Given the description of an element on the screen output the (x, y) to click on. 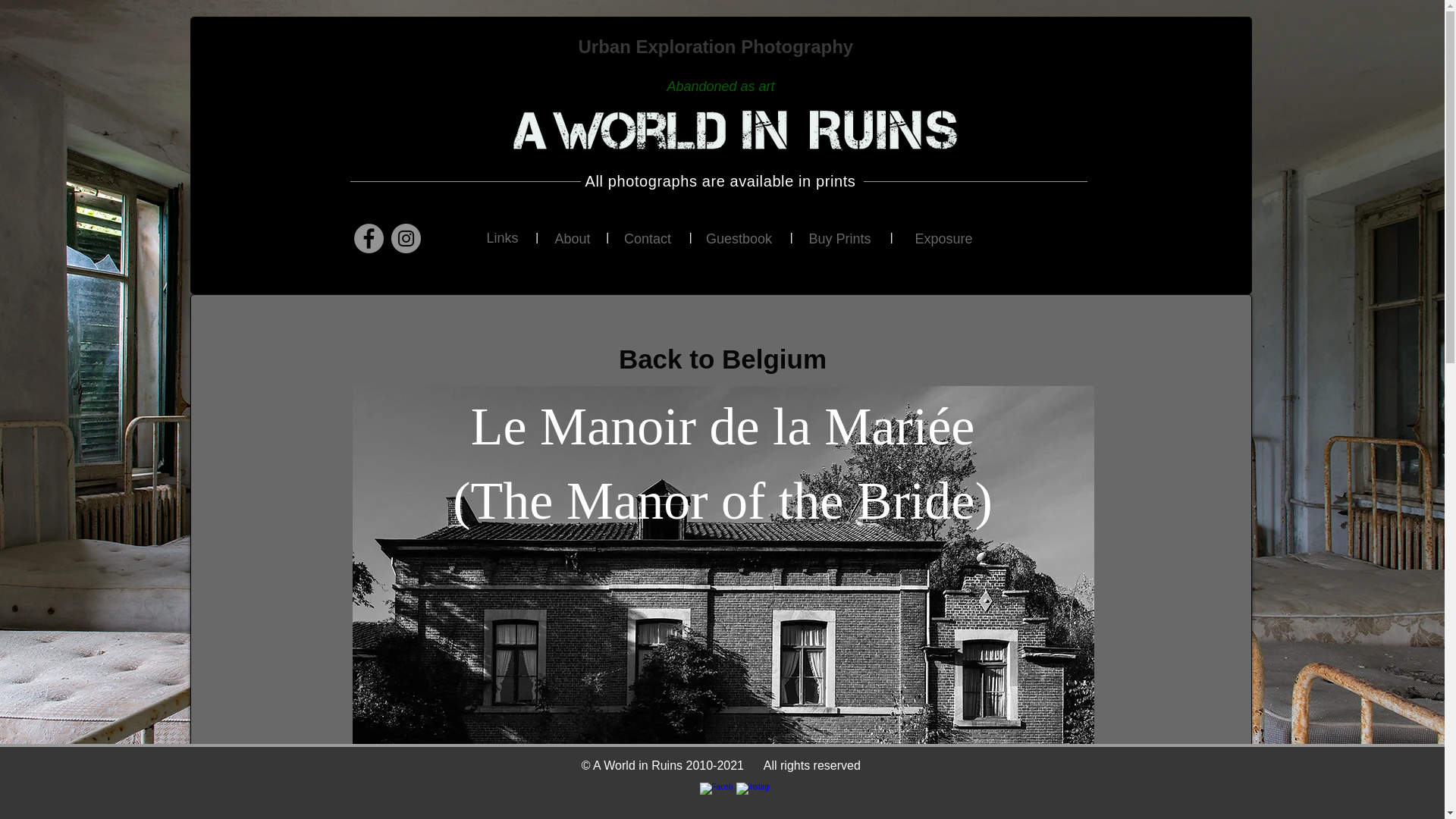
Guestbook (738, 238)
Contact (647, 238)
Links (501, 238)
Back to Belgium (722, 359)
Buy Prints (840, 239)
Urban Exploration Photography (717, 46)
About (572, 238)
Exposure (943, 239)
